Given the description of an element on the screen output the (x, y) to click on. 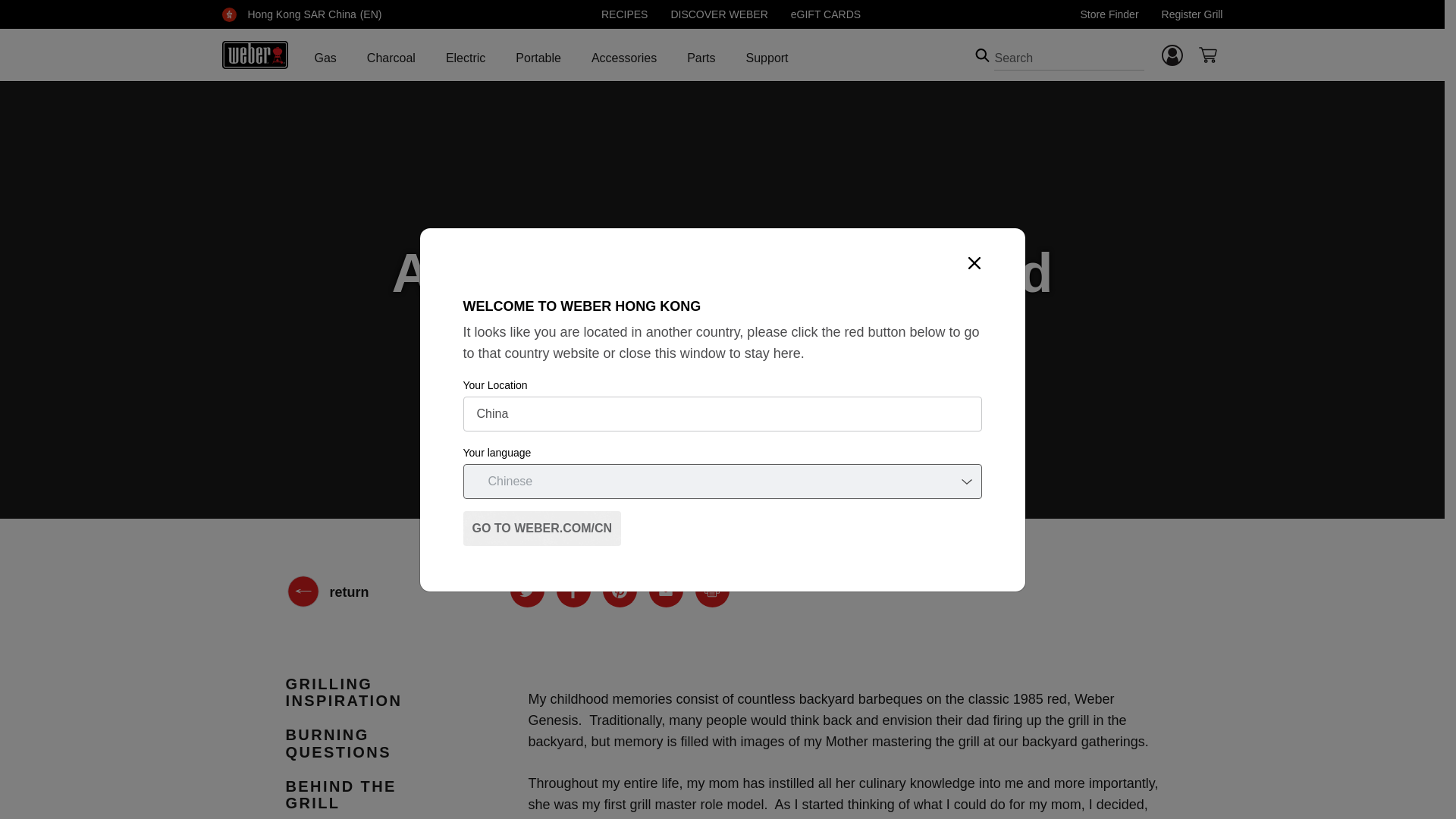
Register Grill (1192, 14)
Charcoal (390, 60)
Commerce Cloud Storefront Reference Architecture Home (253, 53)
Charcoal (390, 60)
RECIPES (624, 14)
Store Finder (1109, 14)
Hong Kong SAR China (301, 13)
Electric (464, 60)
DISCOVER WEBER (718, 14)
eGIFT CARDS (825, 14)
